Given the description of an element on the screen output the (x, y) to click on. 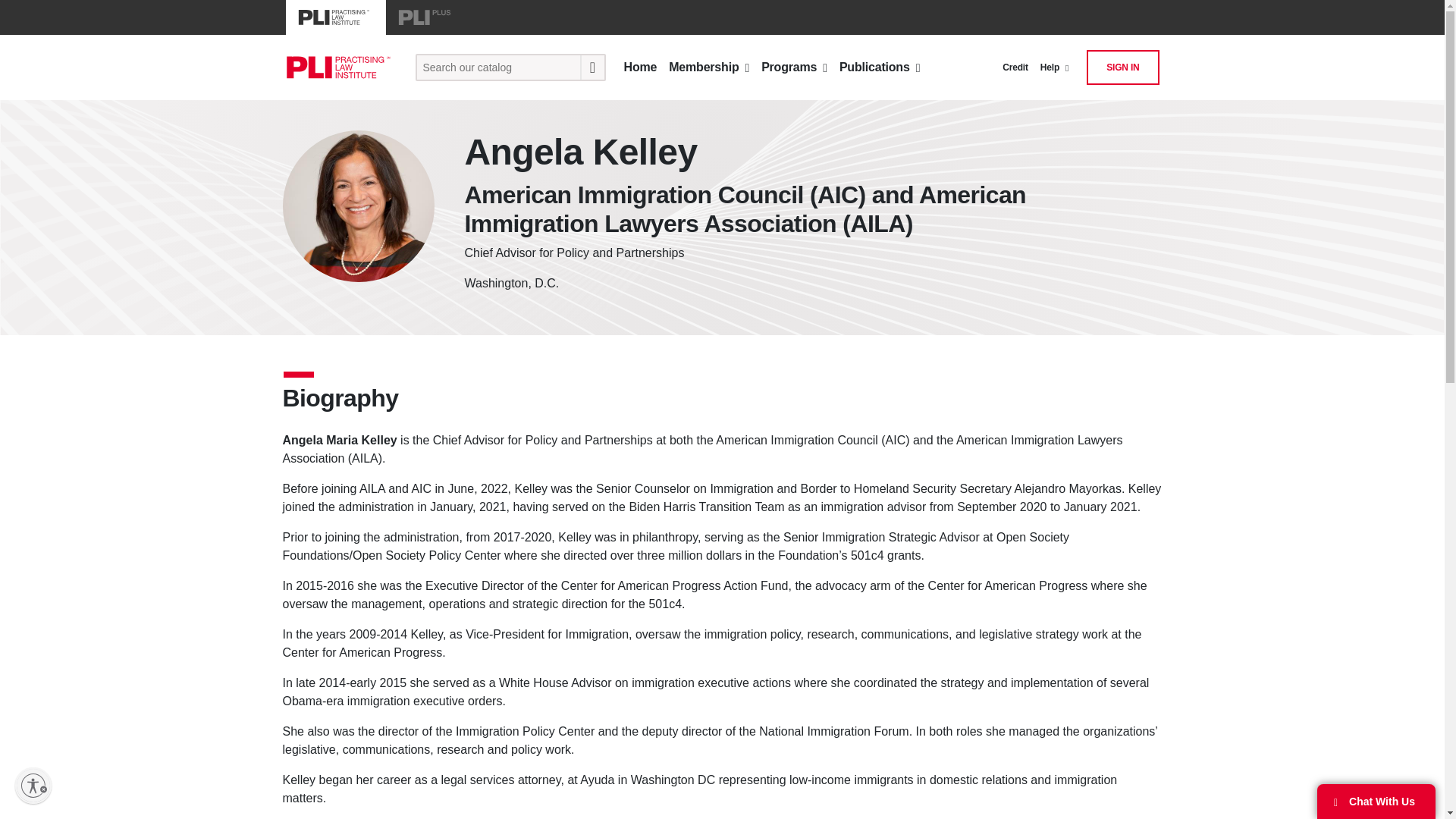
Skip to Main Content (11, 11)
SIGN IN (1122, 67)
Enable accessibility (32, 785)
